Given the description of an element on the screen output the (x, y) to click on. 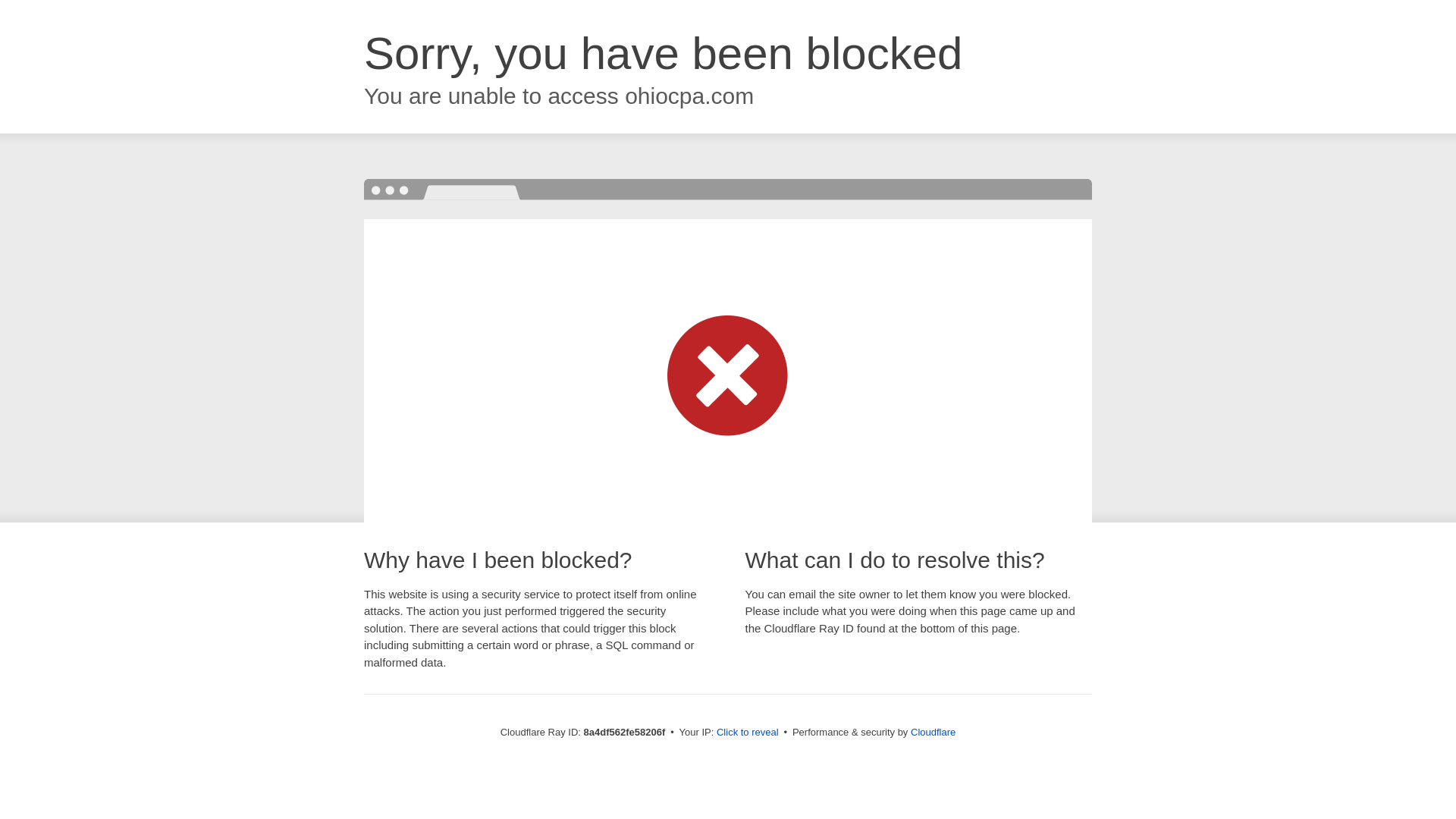
Cloudflare (933, 731)
Click to reveal (747, 732)
